Given the description of an element on the screen output the (x, y) to click on. 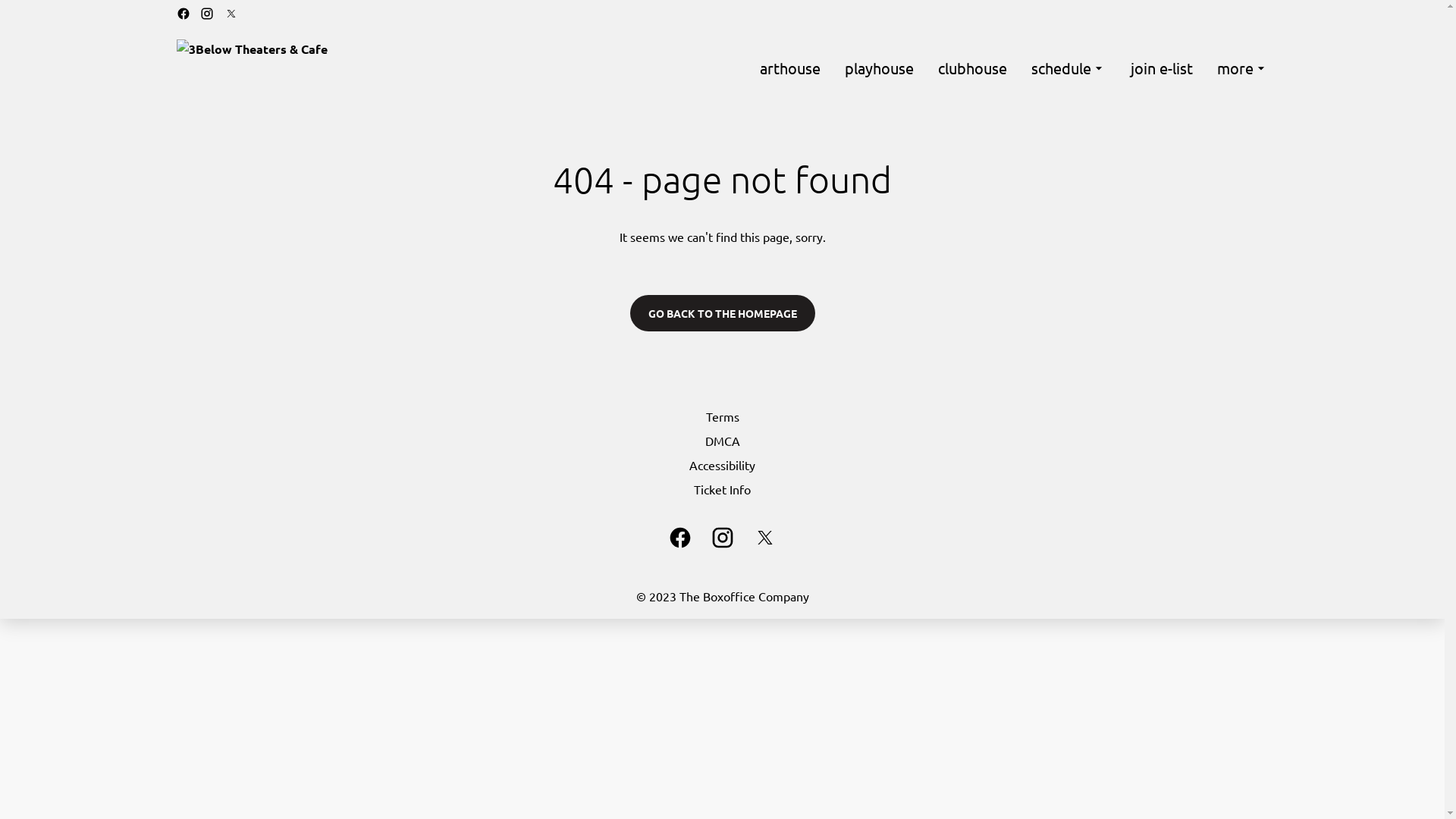
Ticket Info Element type: text (721, 488)
instagram Element type: hover (721, 537)
twitter Element type: hover (231, 13)
Terms Element type: text (721, 416)
playhouse Element type: text (878, 67)
GO BACK TO THE HOMEPAGE Element type: text (721, 312)
facebook Element type: hover (679, 537)
schedule Element type: text (1068, 67)
instagram Element type: hover (206, 13)
Accessibility Element type: text (721, 464)
twitter Element type: hover (764, 537)
join e-list Element type: text (1160, 67)
facebook Element type: hover (182, 13)
clubhouse Element type: text (971, 67)
arthouse Element type: text (789, 67)
DMCA Element type: text (721, 440)
more Element type: text (1241, 67)
